Given the description of an element on the screen output the (x, y) to click on. 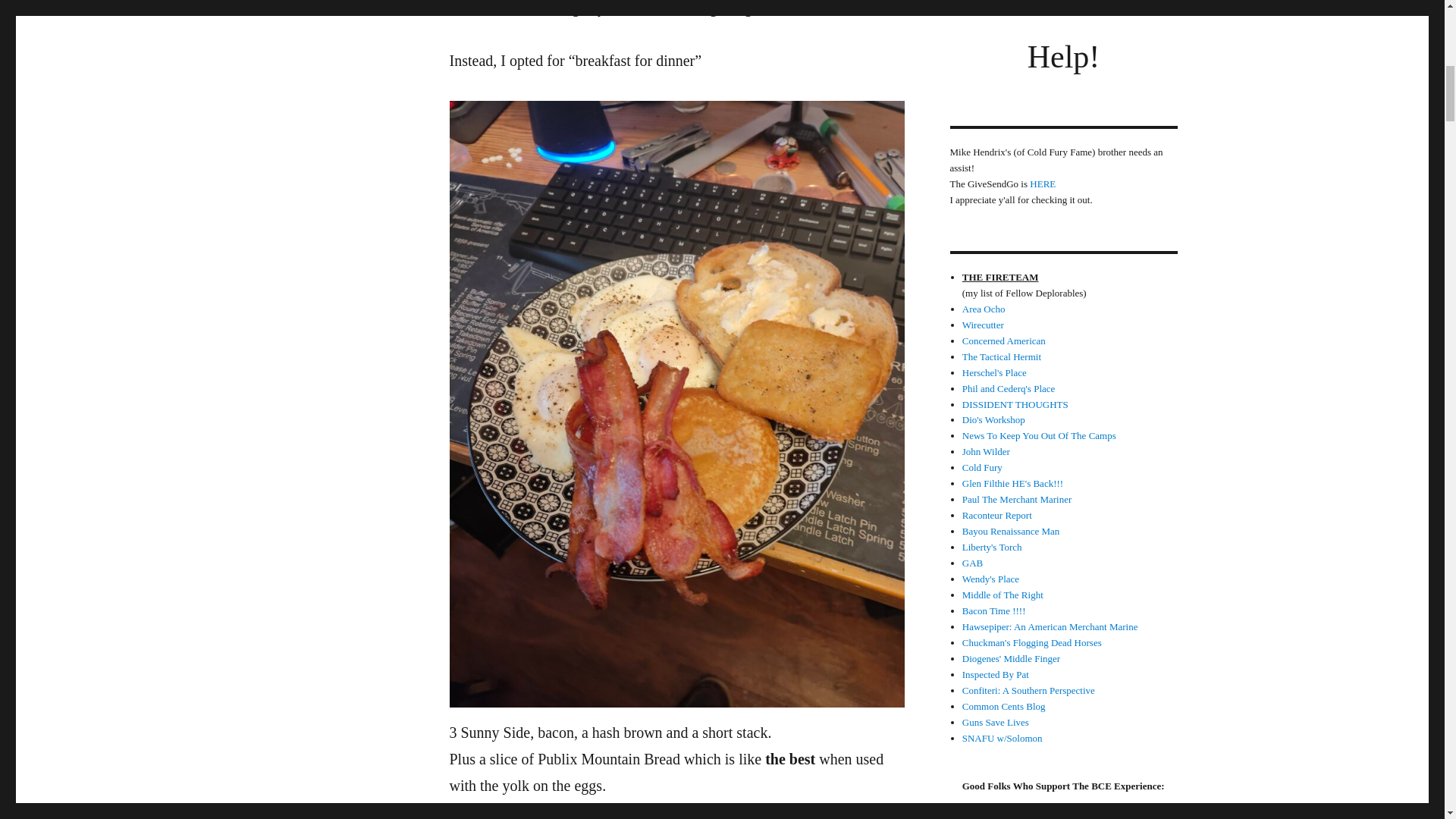
Wirecutter (983, 324)
HERE (1042, 183)
The Tactical Hermit (1001, 356)
Dio's Workshop (993, 419)
Area Ocho (984, 308)
Phil and Cederq's Place (1008, 388)
Herschel's Place (994, 372)
Concerned American (1003, 340)
DISSIDENT THOUGHTS (1015, 404)
